Given the description of an element on the screen output the (x, y) to click on. 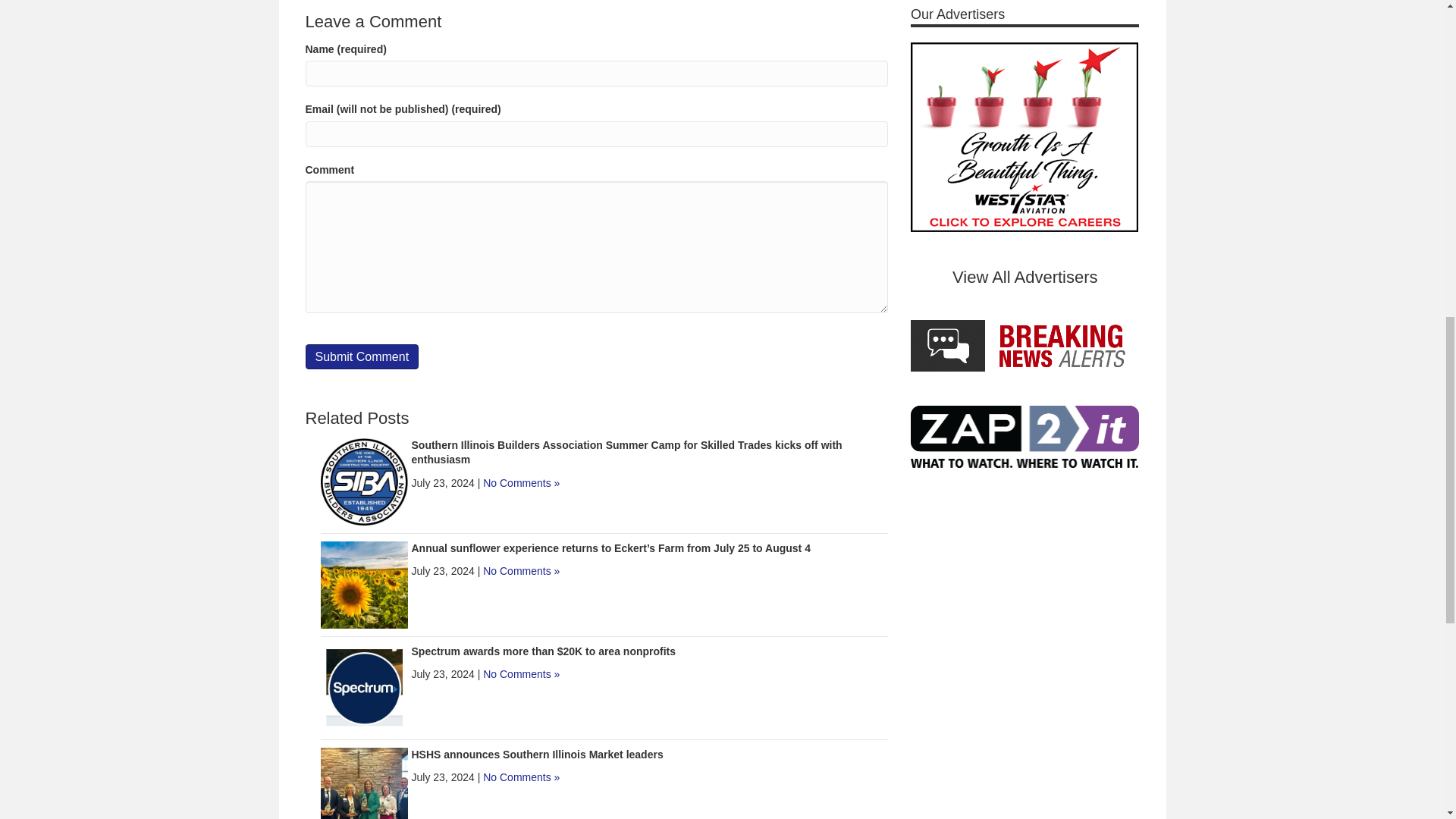
HSHS announces Southern Illinois Market leaders (536, 754)
Submit Comment (361, 356)
Submit Comment (361, 356)
HSHS announces Southern Illinois Market leaders (363, 789)
